Given the description of an element on the screen output the (x, y) to click on. 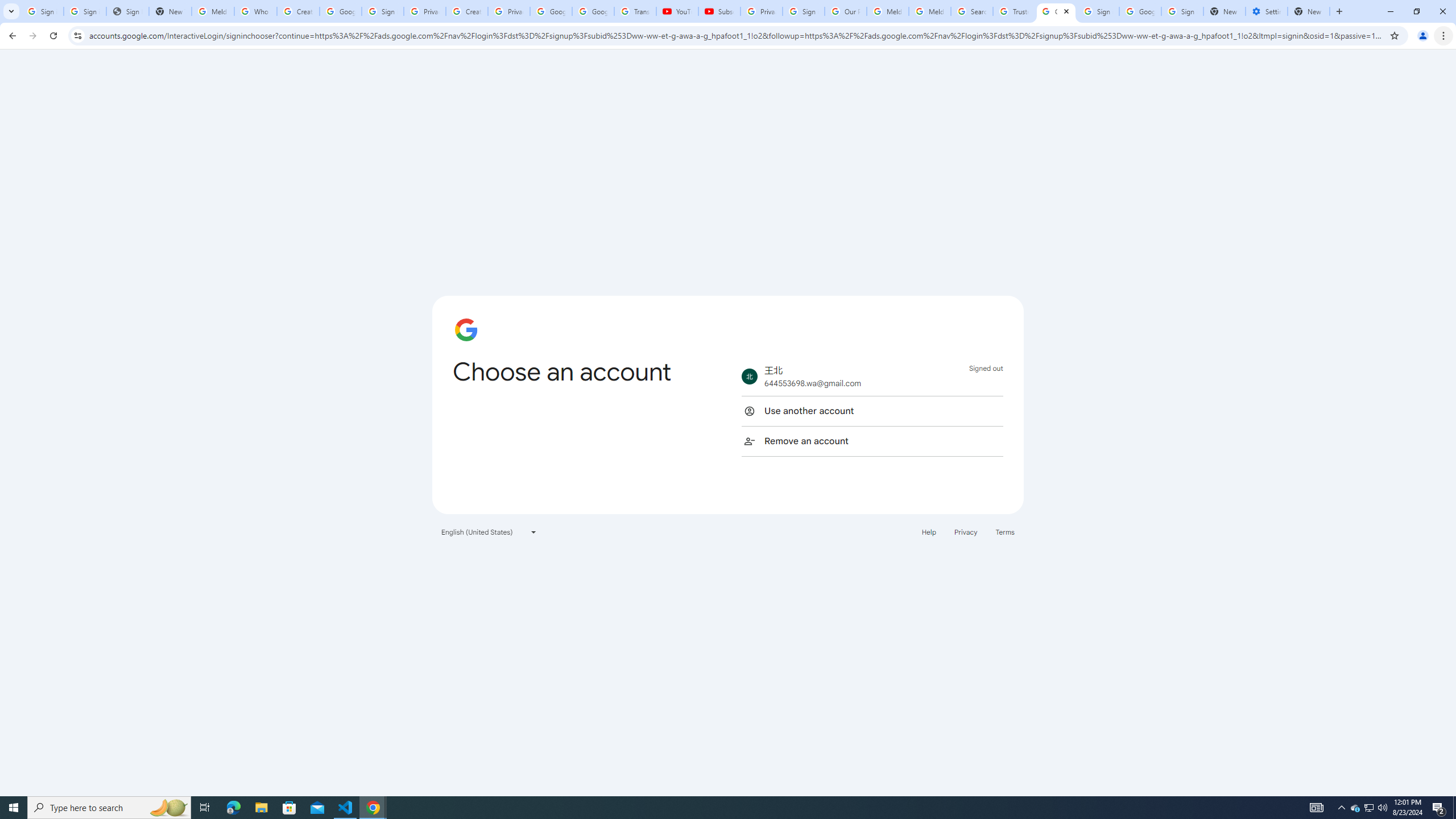
Address and search bar (735, 35)
Help (928, 531)
Sign in - Google Accounts (382, 11)
Create your Google Account (467, 11)
YouTube (676, 11)
Google Cybersecurity Innovations - Google Safety Center (1139, 11)
Chrome (1445, 35)
Bookmark this tab (1393, 35)
Sign in - Google Accounts (1097, 11)
